Given the description of an element on the screen output the (x, y) to click on. 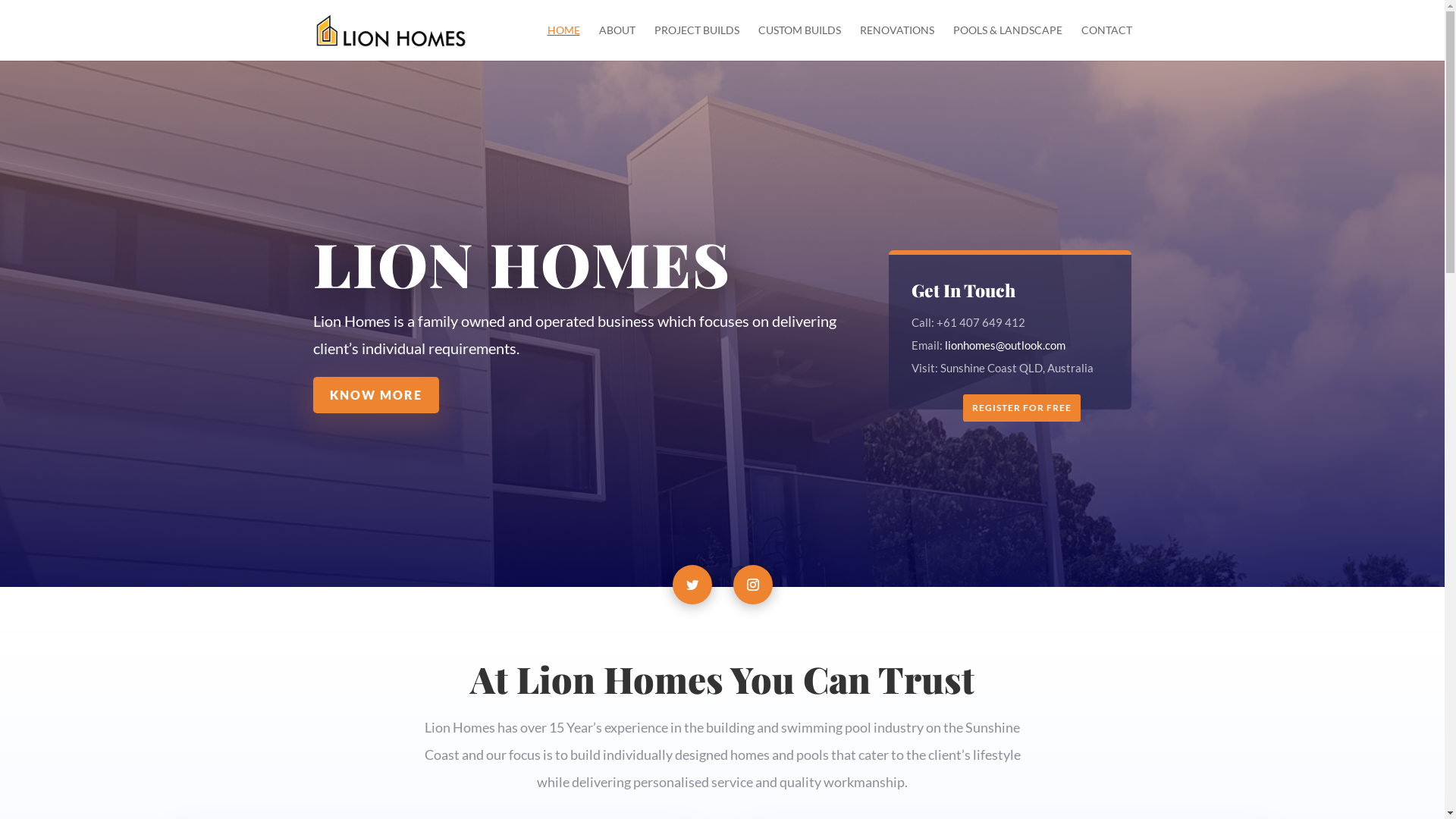
CONTACT Element type: text (1106, 42)
lionhomes@outlook.com Element type: text (1004, 344)
REGISTER FOR FREE Element type: text (1021, 407)
HOME Element type: text (563, 42)
CUSTOM BUILDS Element type: text (799, 42)
KNOW MORE Element type: text (375, 394)
RENOVATIONS Element type: text (896, 42)
ABOUT Element type: text (617, 42)
Follow on Twitter Element type: hover (691, 584)
Follow on Instagram Element type: hover (751, 584)
POOLS & LANDSCAPE Element type: text (1006, 42)
PROJECT BUILDS Element type: text (695, 42)
